Given the description of an element on the screen output the (x, y) to click on. 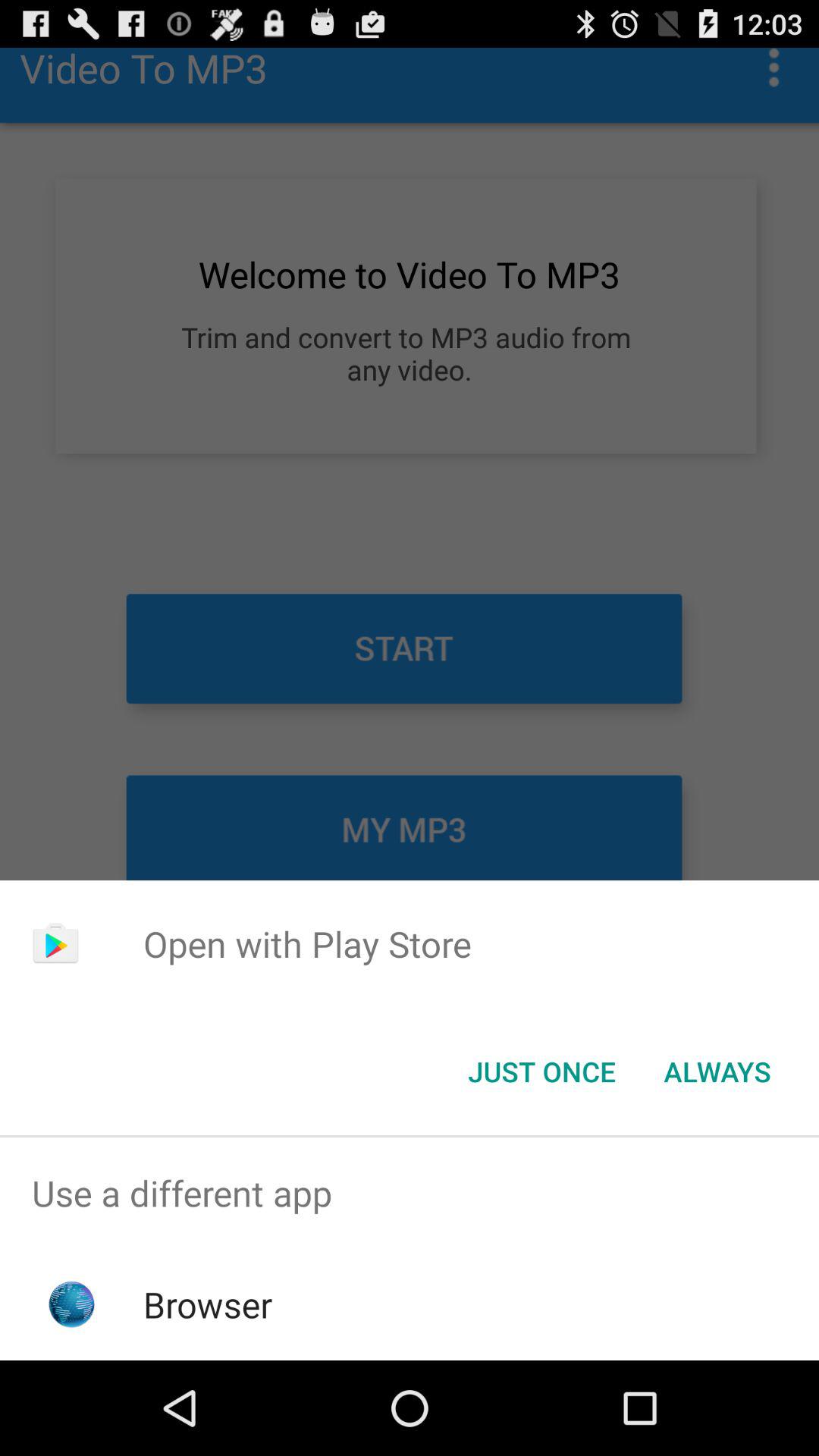
scroll to the use a different (409, 1192)
